Given the description of an element on the screen output the (x, y) to click on. 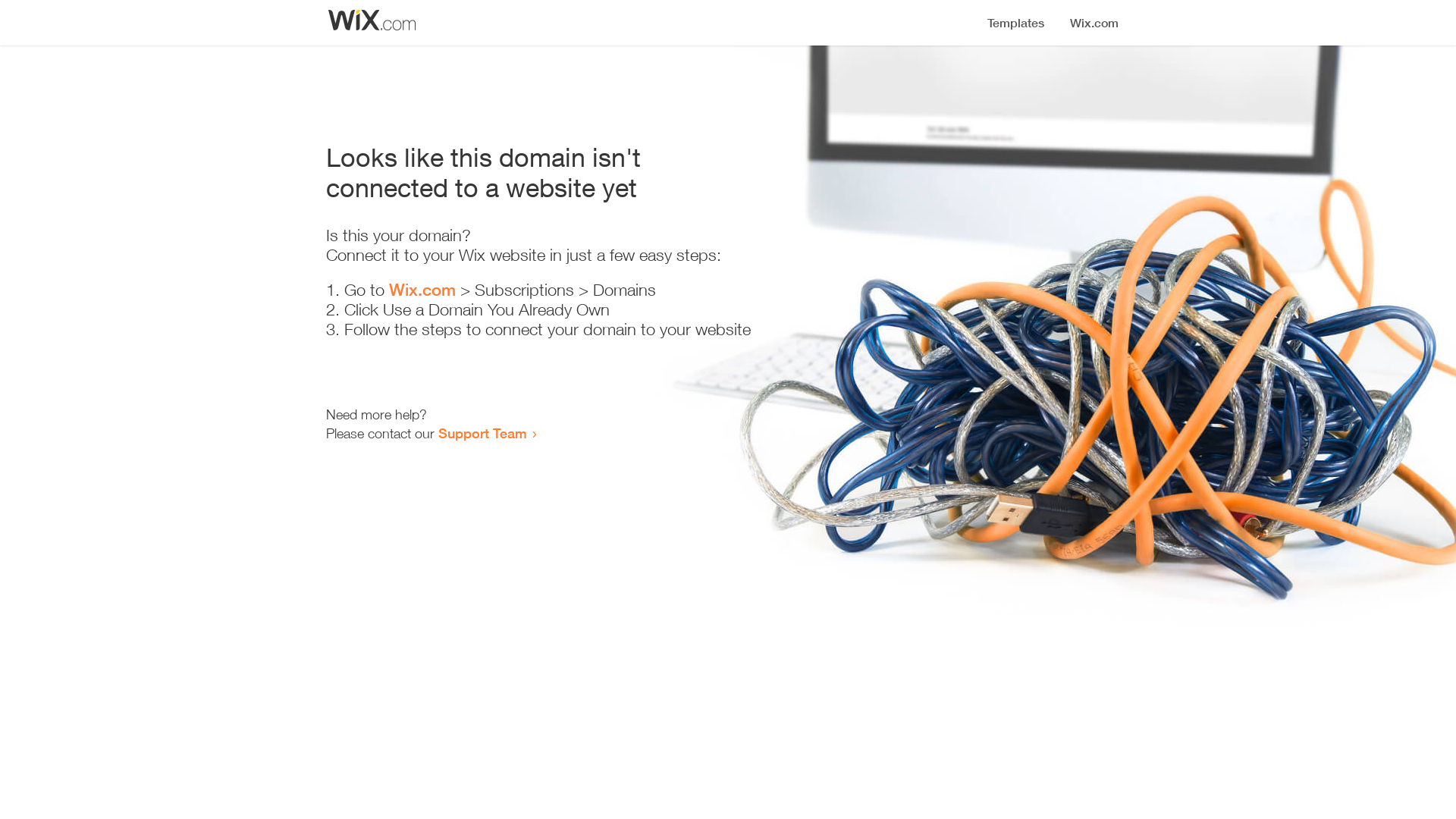
Support Team Element type: text (482, 432)
Wix.com Element type: text (422, 289)
